Given the description of an element on the screen output the (x, y) to click on. 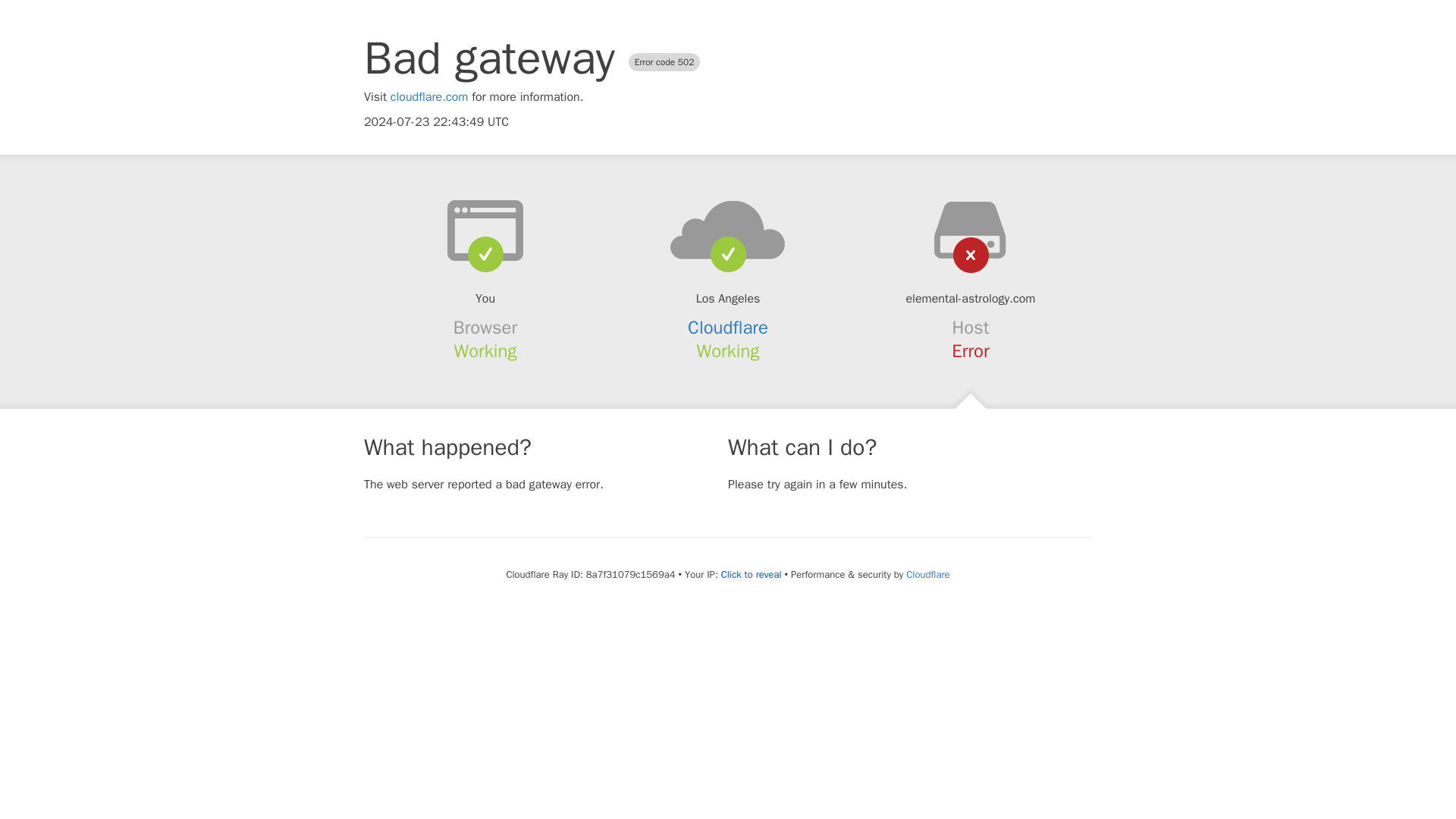
cloudflare.com (429, 96)
Click to reveal (750, 574)
Cloudflare (927, 574)
Cloudflare (727, 327)
